Given the description of an element on the screen output the (x, y) to click on. 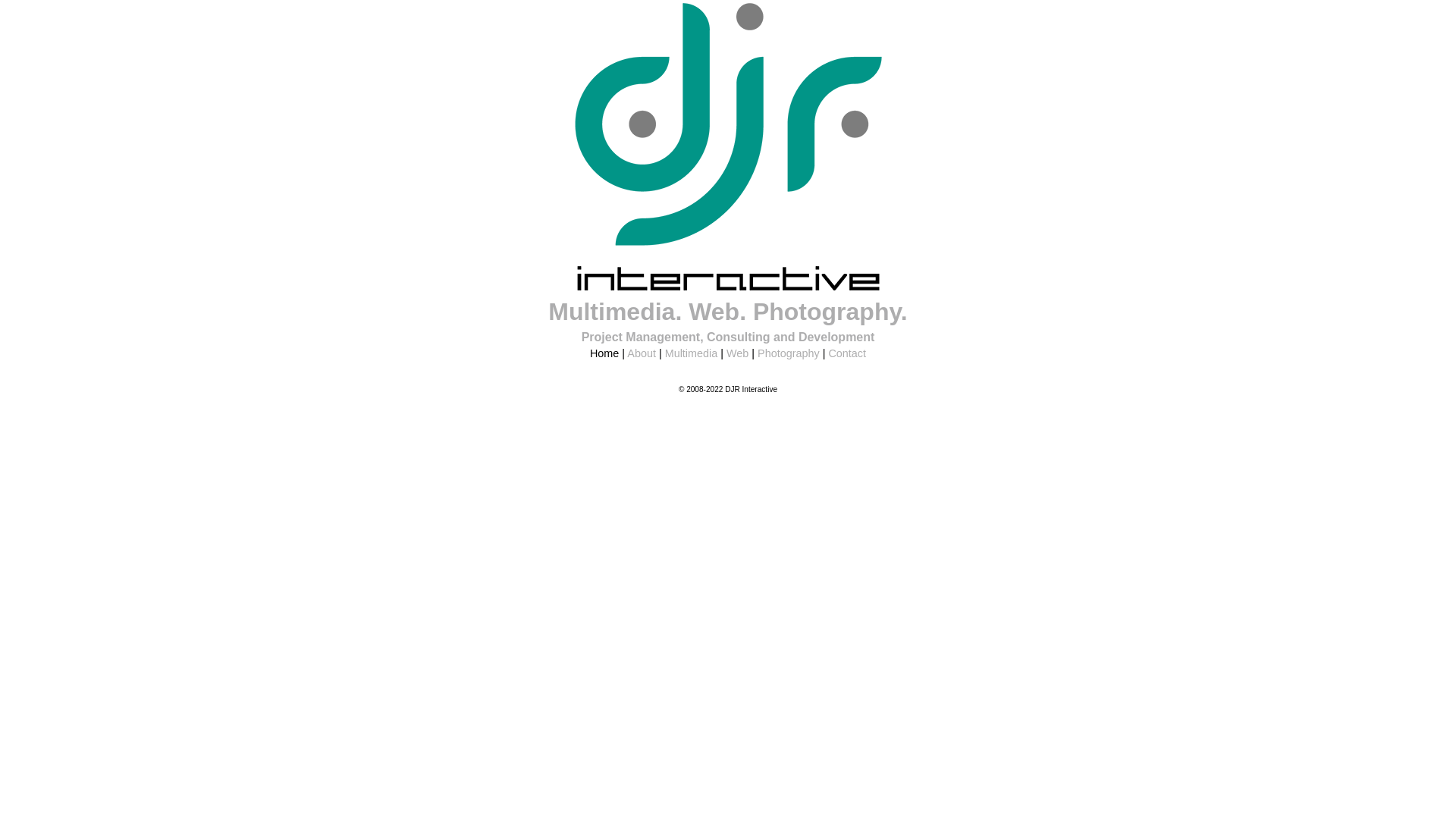
About Element type: text (641, 353)
Web Element type: text (737, 353)
Photography Element type: text (788, 353)
Contact Element type: text (847, 353)
Multimedia Element type: text (691, 353)
